Given the description of an element on the screen output the (x, y) to click on. 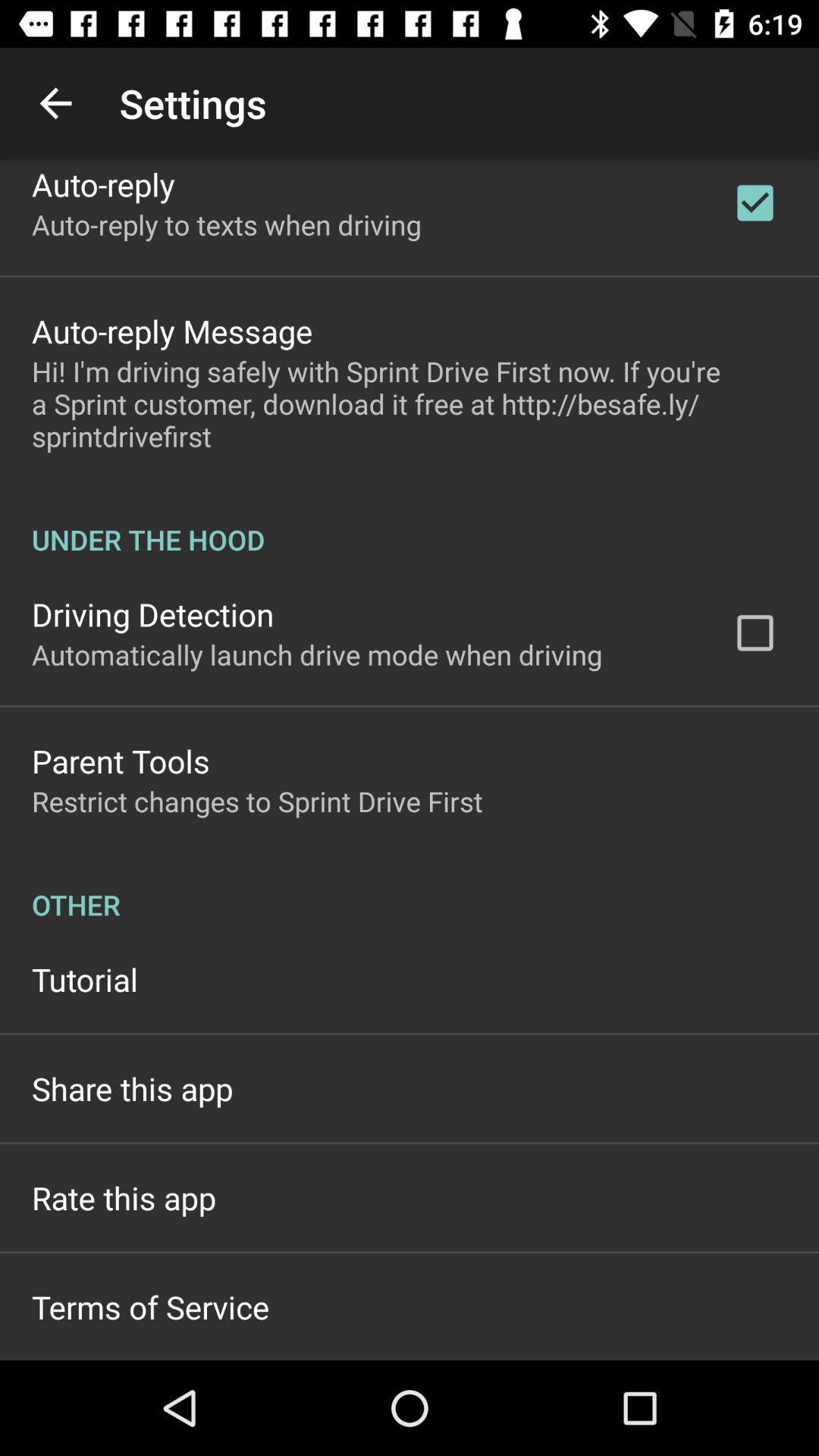
flip to the automatically launch drive app (316, 654)
